Given the description of an element on the screen output the (x, y) to click on. 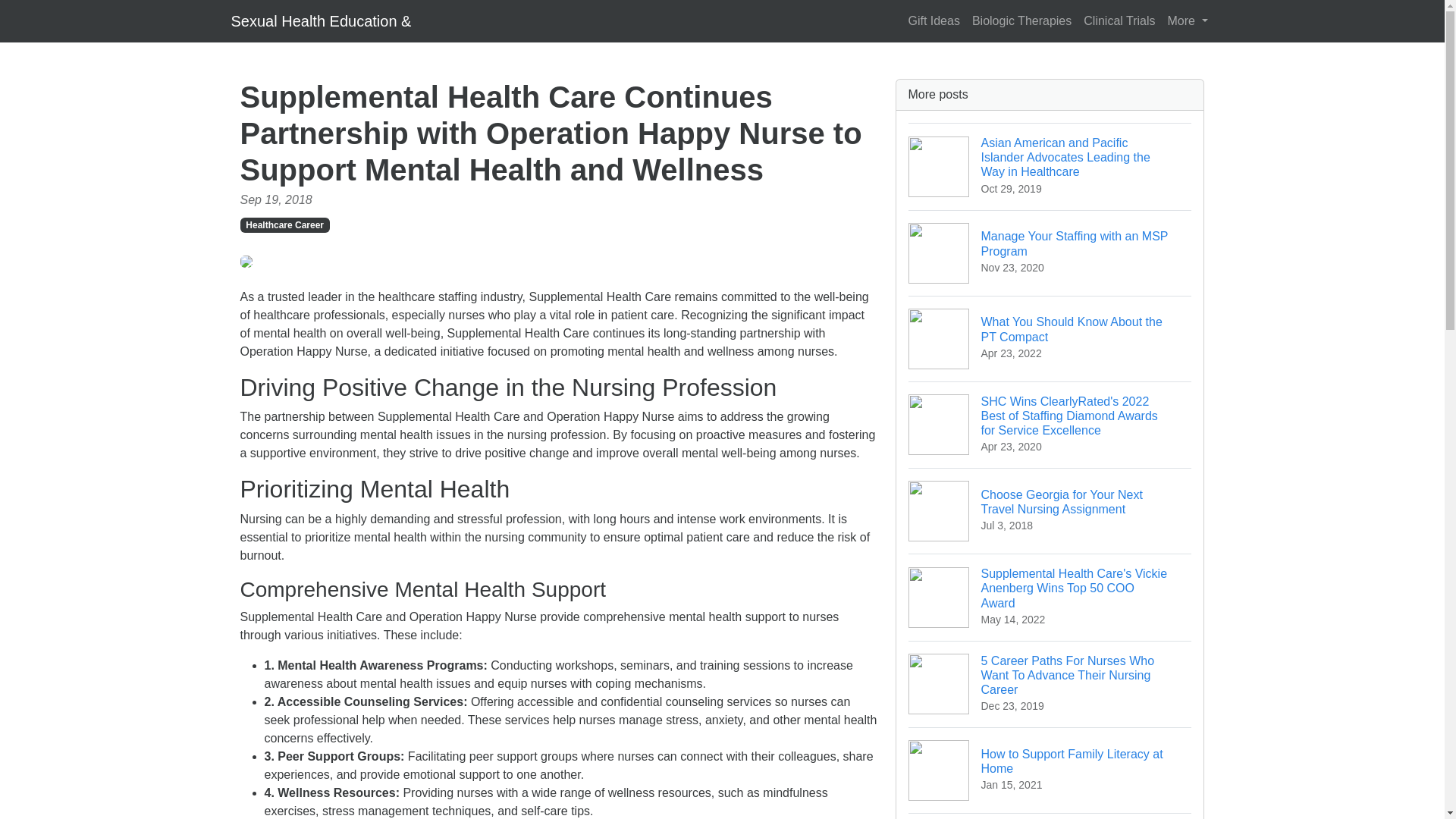
Gift Ideas (1050, 770)
Clinical Trials (933, 20)
Biologic Therapies (1118, 20)
Healthcare Career (1050, 338)
More (1021, 20)
